Given the description of an element on the screen output the (x, y) to click on. 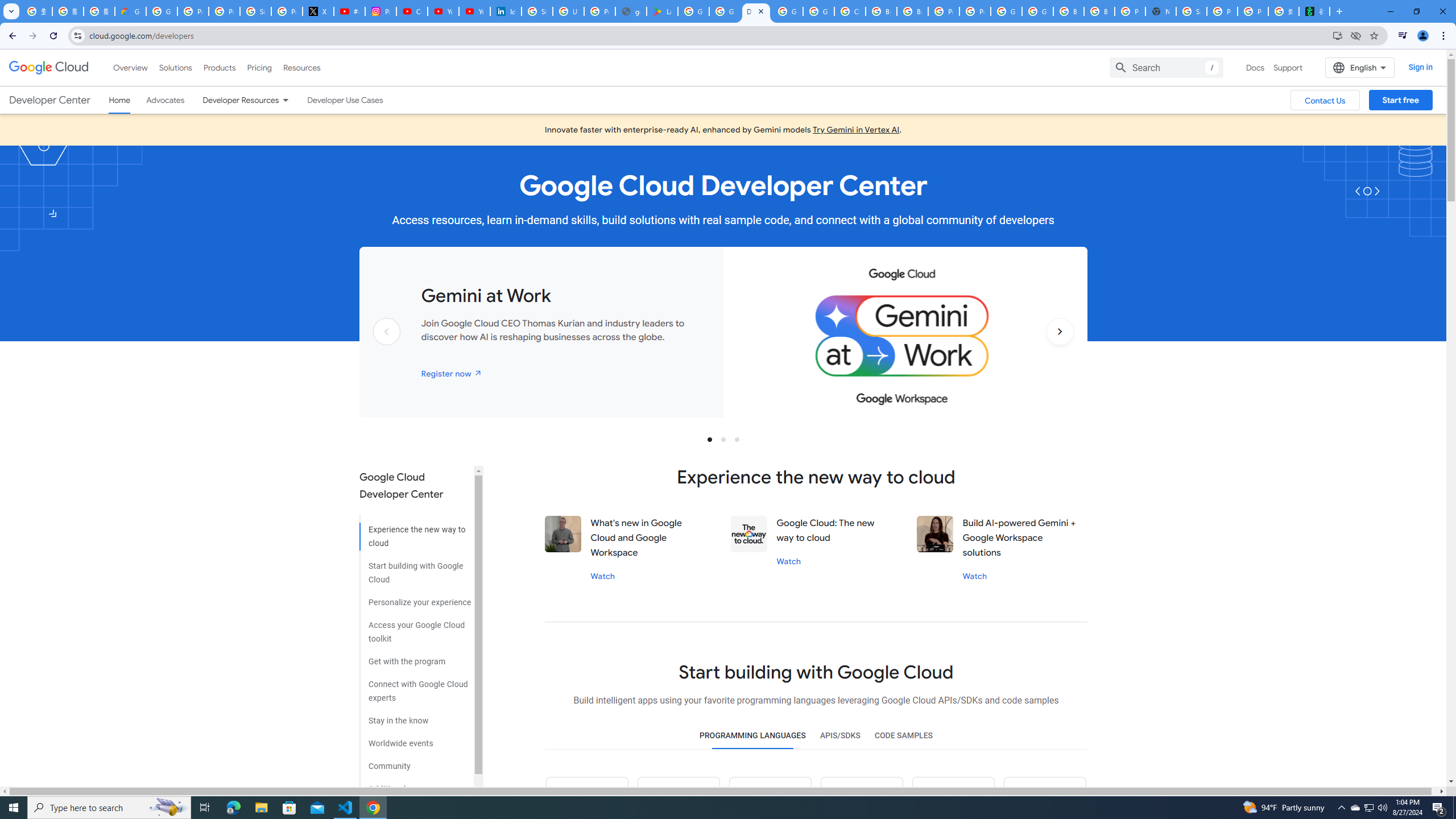
Experience the new way to cloud (415, 532)
Connect with Google Cloud experts (415, 687)
APIS/SDKS (839, 735)
Slide 1 (709, 438)
Python icon (587, 798)
Ruby icon (860, 798)
YouTube Culture & Trends - YouTube Top 10, 2021 (474, 11)
